Given the description of an element on the screen output the (x, y) to click on. 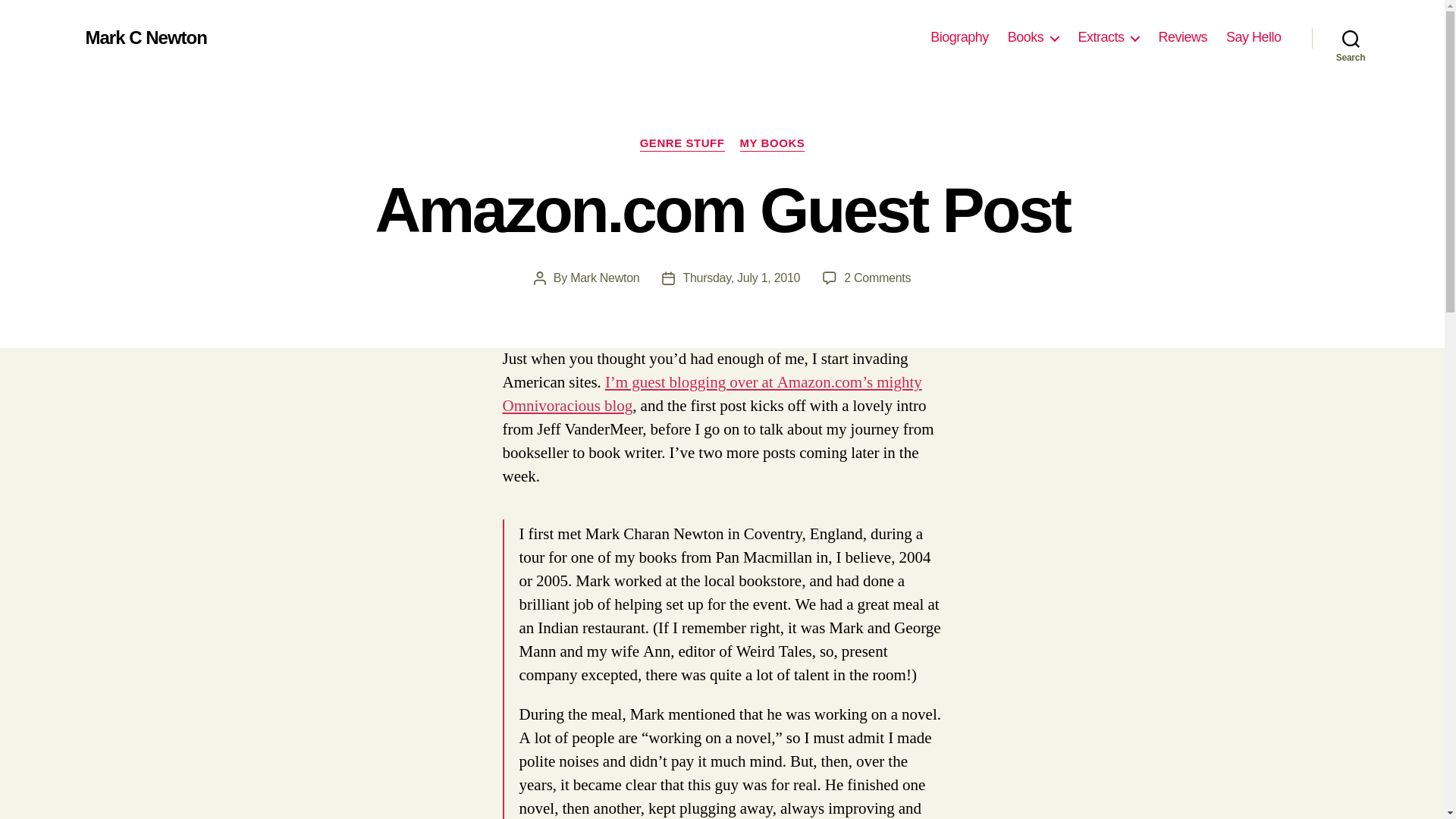
Reviews (1182, 37)
GENRE STUFF (682, 143)
MY BOOKS (772, 143)
Thursday, July 1, 2010 (740, 277)
Search (1350, 37)
Biography (959, 37)
Extracts (877, 277)
Books (1107, 37)
Mark Newton (1033, 37)
Say Hello (604, 277)
Mark C Newton (1253, 37)
